Given the description of an element on the screen output the (x, y) to click on. 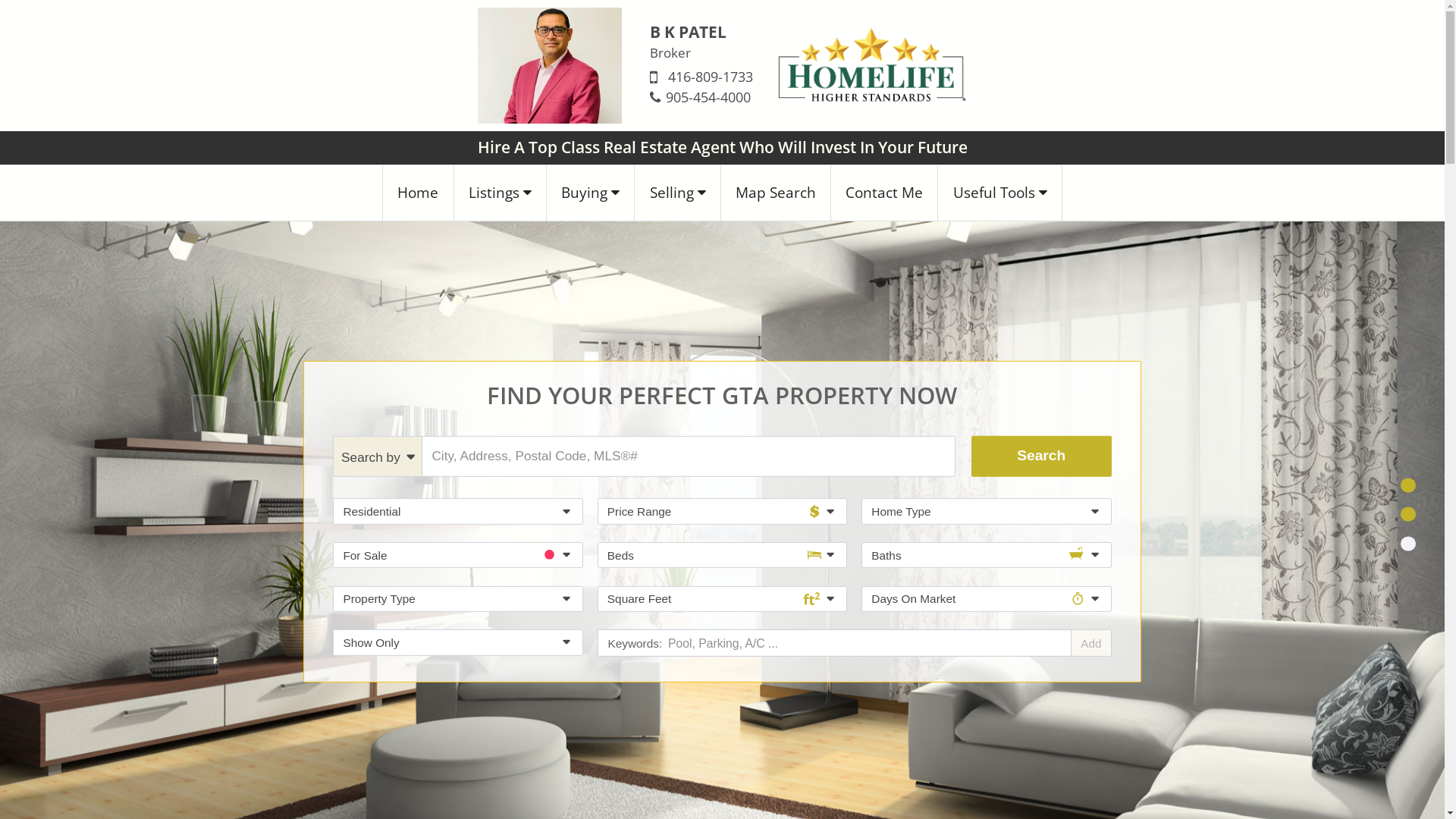
Contact Me Element type: text (884, 192)
905-454-4000 Element type: text (707, 96)
Baths Element type: text (985, 555)
Search Element type: text (1041, 456)
416-809-1733 Element type: text (710, 76)
Property Type Element type: text (457, 598)
Home Element type: text (417, 192)
Buying Element type: text (590, 192)
Listings Element type: text (500, 192)
Map Search Element type: text (776, 192)
For Sale Element type: text (457, 555)
Let's Begin the Search for Your Dream Home Element type: text (722, 789)
1 Element type: text (1407, 484)
Square Feet Element type: text (722, 598)
Price Range Element type: text (722, 511)
3 Element type: text (1407, 543)
Add Element type: text (1090, 642)
Home Type Element type: text (985, 511)
Selling Element type: text (677, 192)
Days On Market Element type: text (985, 598)
Beds Element type: text (722, 555)
Useful Tools Element type: text (999, 192)
Residential Element type: text (457, 511)
Show Only Element type: text (457, 642)
Search by Element type: text (377, 456)
2 Element type: text (1407, 514)
